Given the description of an element on the screen output the (x, y) to click on. 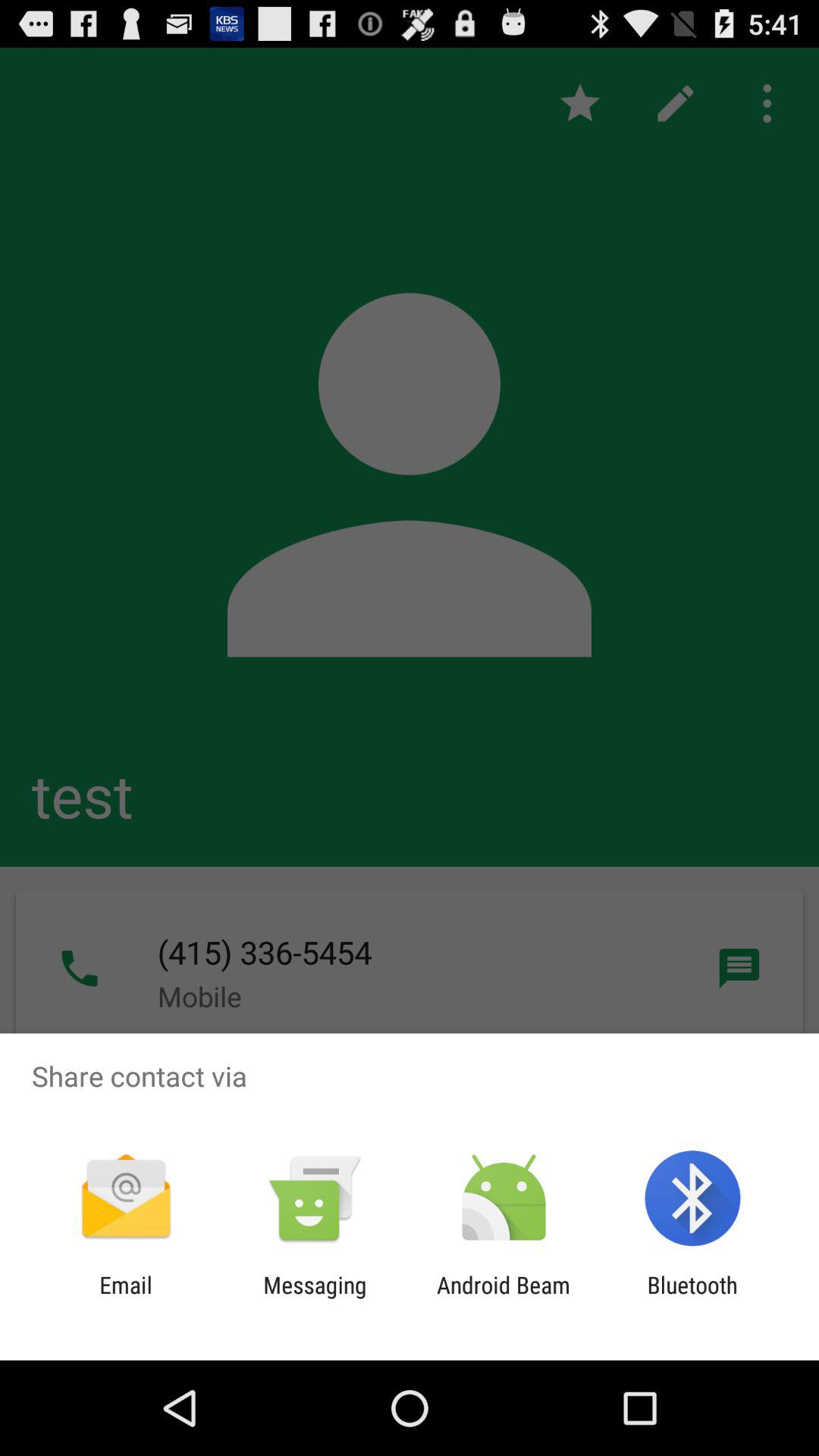
open the android beam icon (503, 1298)
